Given the description of an element on the screen output the (x, y) to click on. 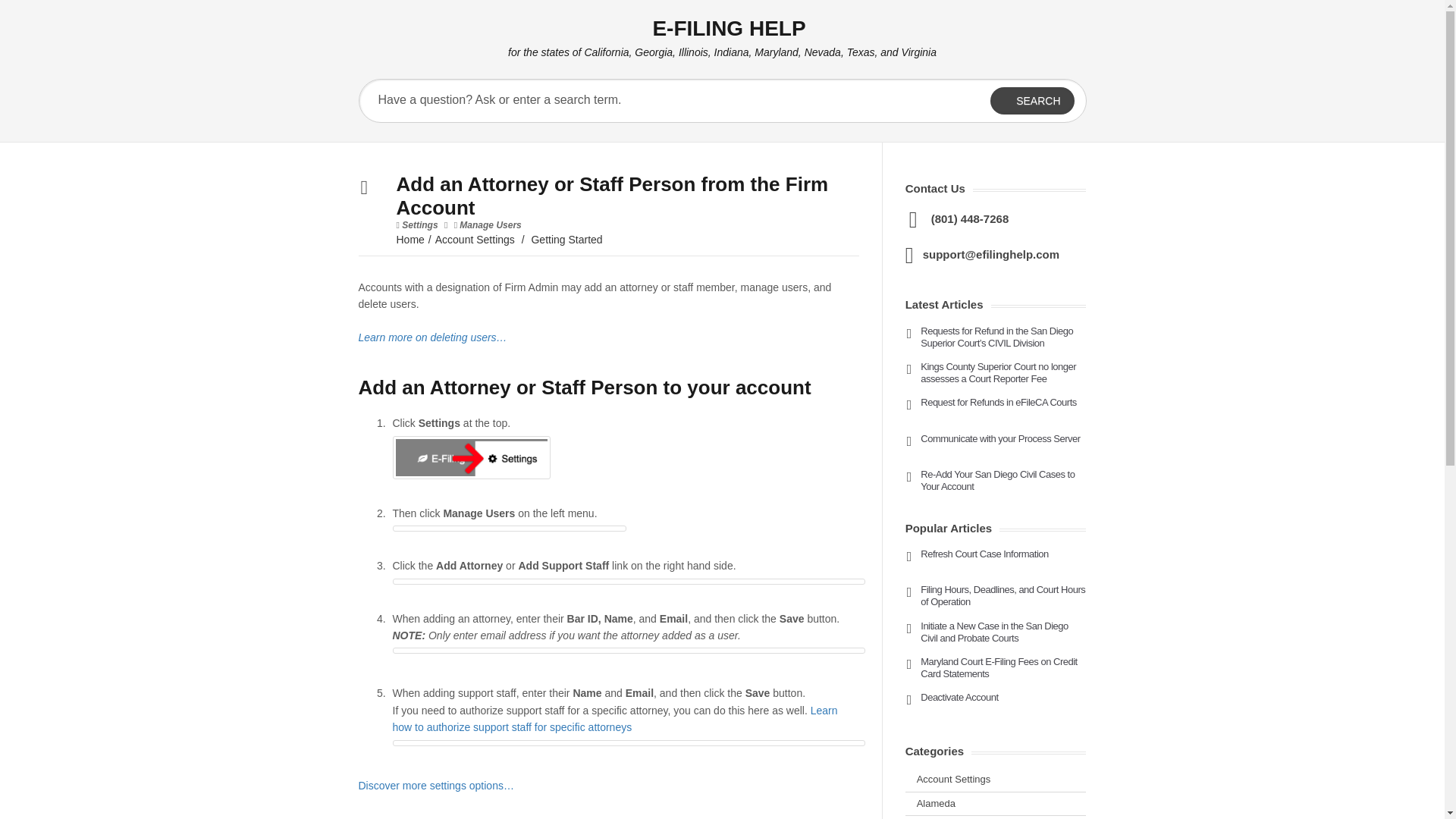
Account Settings (954, 778)
Account Settings (475, 239)
Learn how to authorize support staff for specific attorneys (615, 718)
Maryland Court E-Filing Fees on Credit Card Statements (998, 667)
Communicate with your Process Server (1000, 438)
Search (1032, 100)
E-FILING HELP (730, 31)
Home (409, 239)
Filing Hours, Deadlines, and Court Hours of Operation (1002, 595)
Deactivate Account (958, 696)
